Given the description of an element on the screen output the (x, y) to click on. 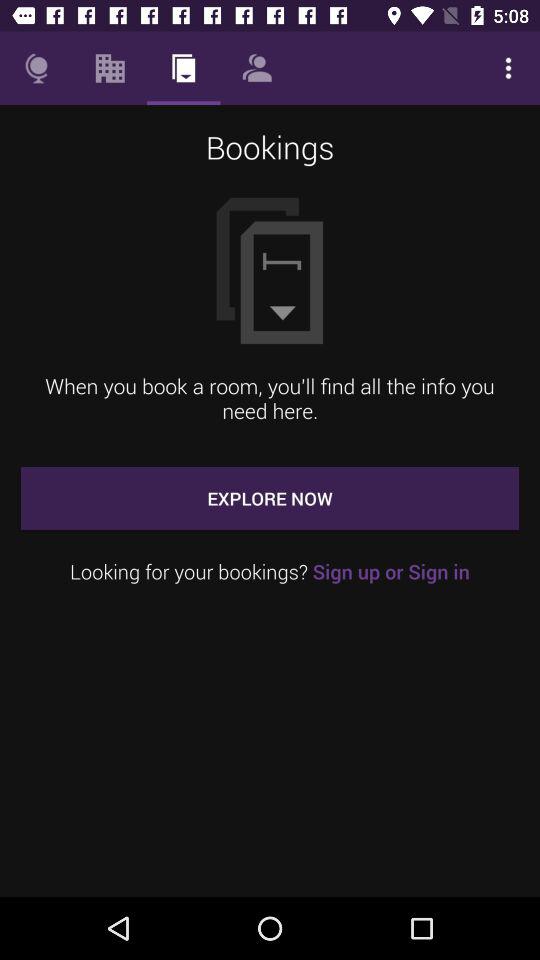
click the icon at the top right corner (508, 67)
